Given the description of an element on the screen output the (x, y) to click on. 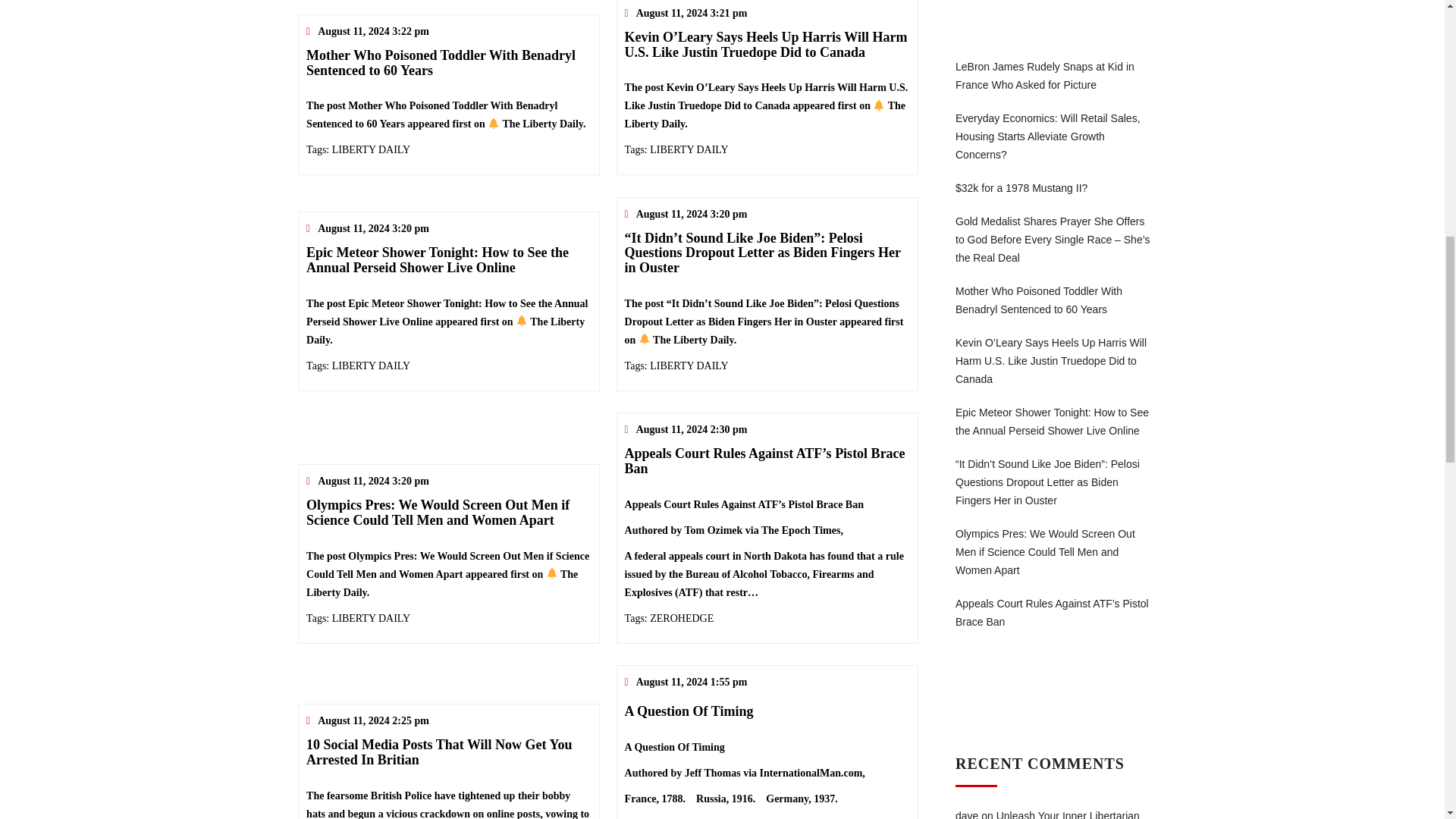
LIBERTY DAILY (370, 149)
LIBERTY DAILY (688, 365)
LIBERTY DAILY (370, 365)
LIBERTY DAILY (688, 149)
LIBERTY DAILY (370, 618)
ZEROHEDGE (681, 618)
